Given the description of an element on the screen output the (x, y) to click on. 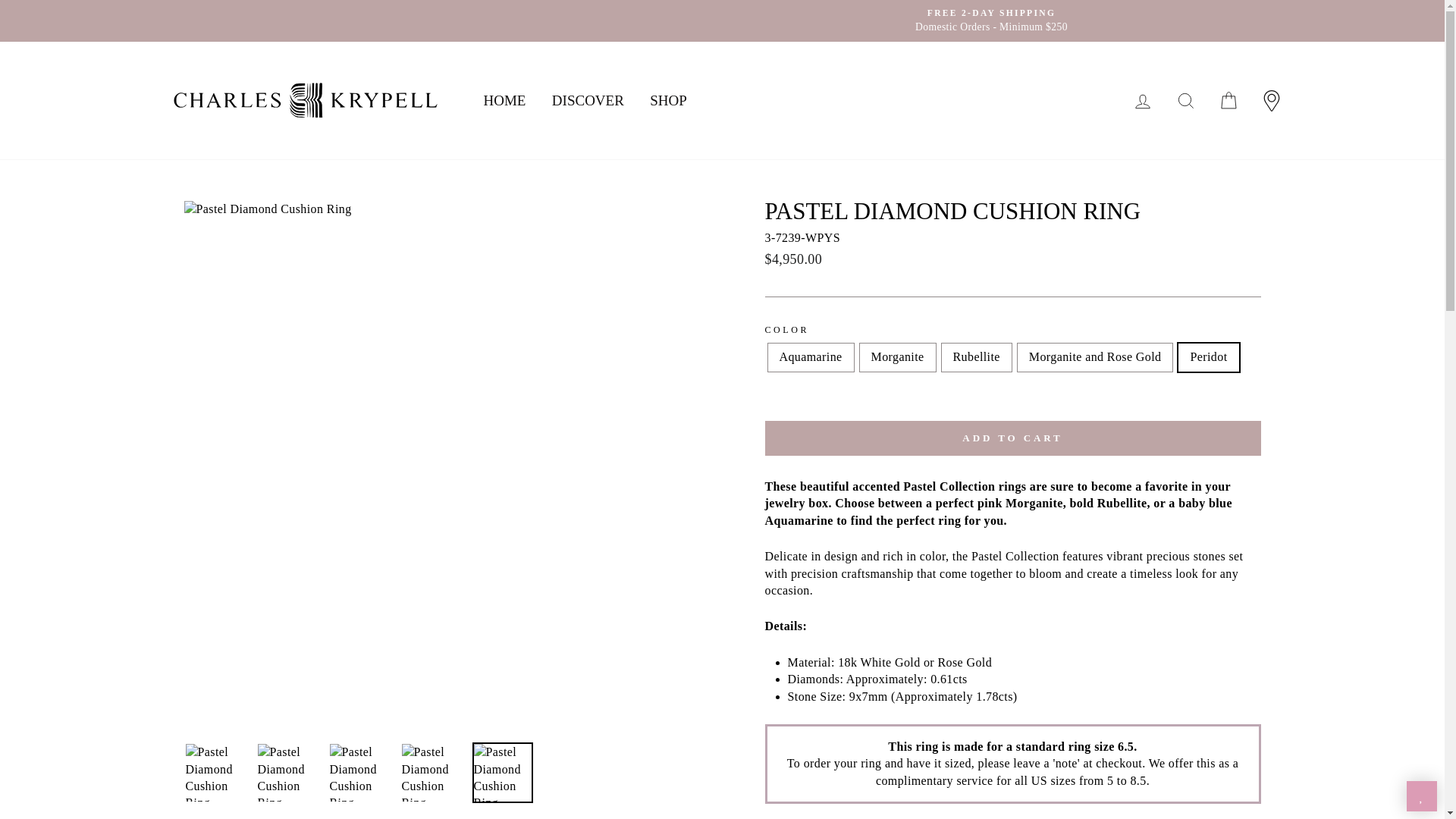
HOME (504, 100)
DISCOVER (587, 100)
